Given the description of an element on the screen output the (x, y) to click on. 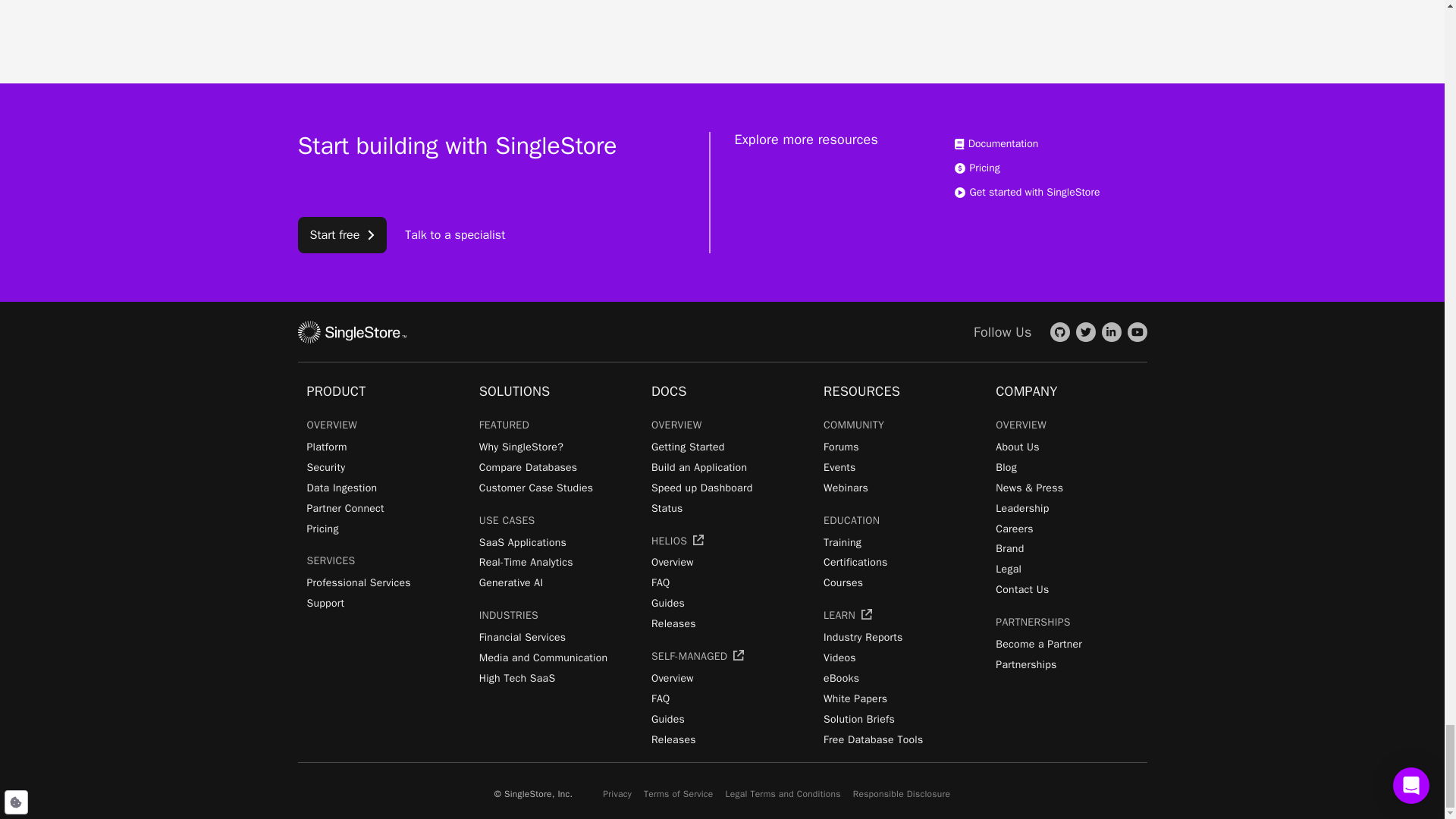
Circle Play Icon (958, 192)
Circle Dollar Icon (958, 167)
